Given the description of an element on the screen output the (x, y) to click on. 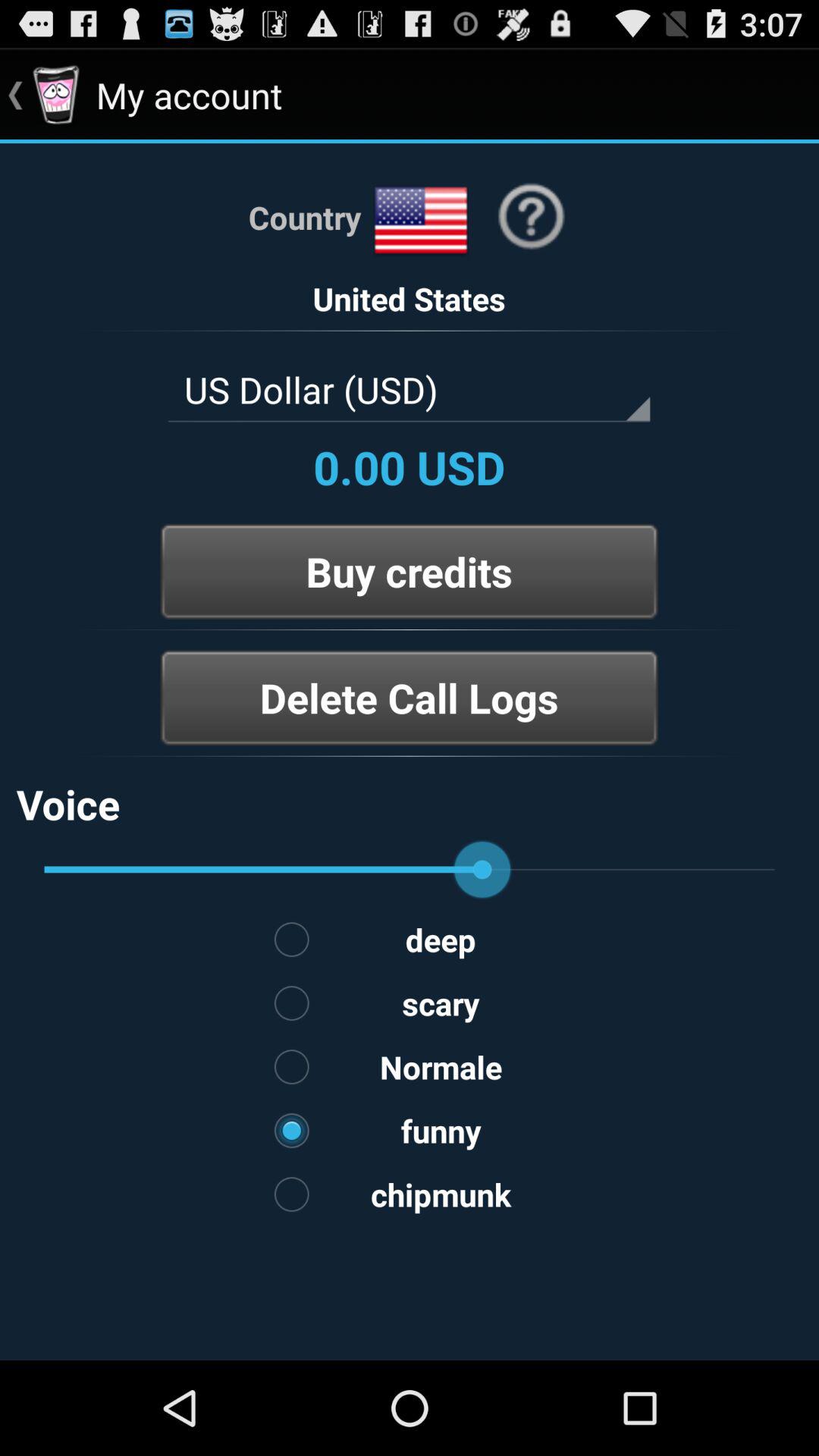
select the logo on the right next to the button on the top left corner of the web page (55, 95)
click on the button below buy credits (409, 697)
select the option funny on the web page (409, 1130)
select the option below the slider on the web page (409, 939)
improper tagging (409, 756)
